Given the description of an element on the screen output the (x, y) to click on. 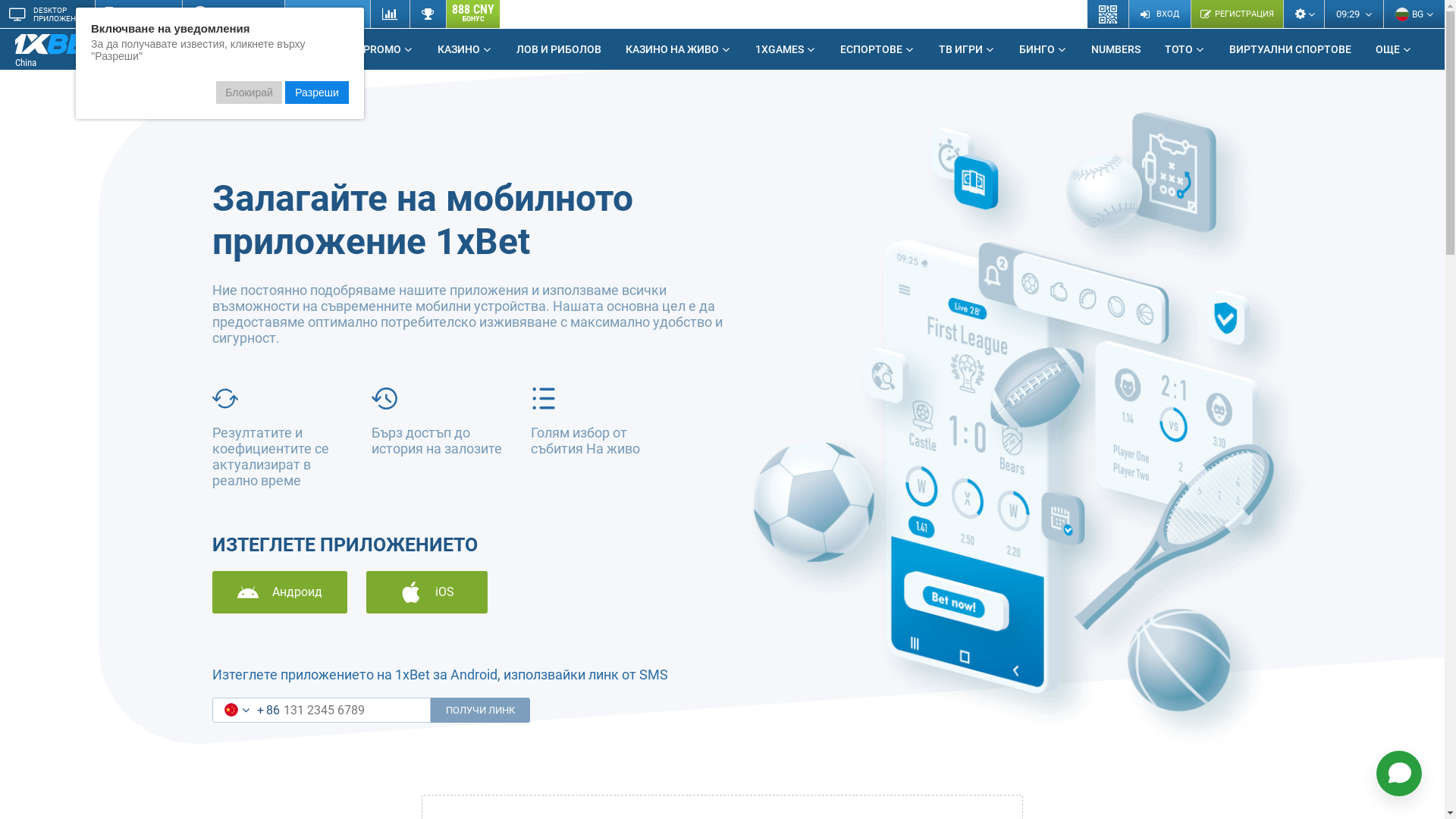
NEW Element type: text (124, 42)
TOTO Element type: text (1184, 48)
NUMBERS Element type: text (1115, 48)
iOS Element type: text (426, 592)
China Element type: text (71, 49)
1XGAMES Element type: text (785, 48)
PROMO Element type: text (388, 48)
1xBet Betting Company Element type: hover (60, 43)
